Given the description of an element on the screen output the (x, y) to click on. 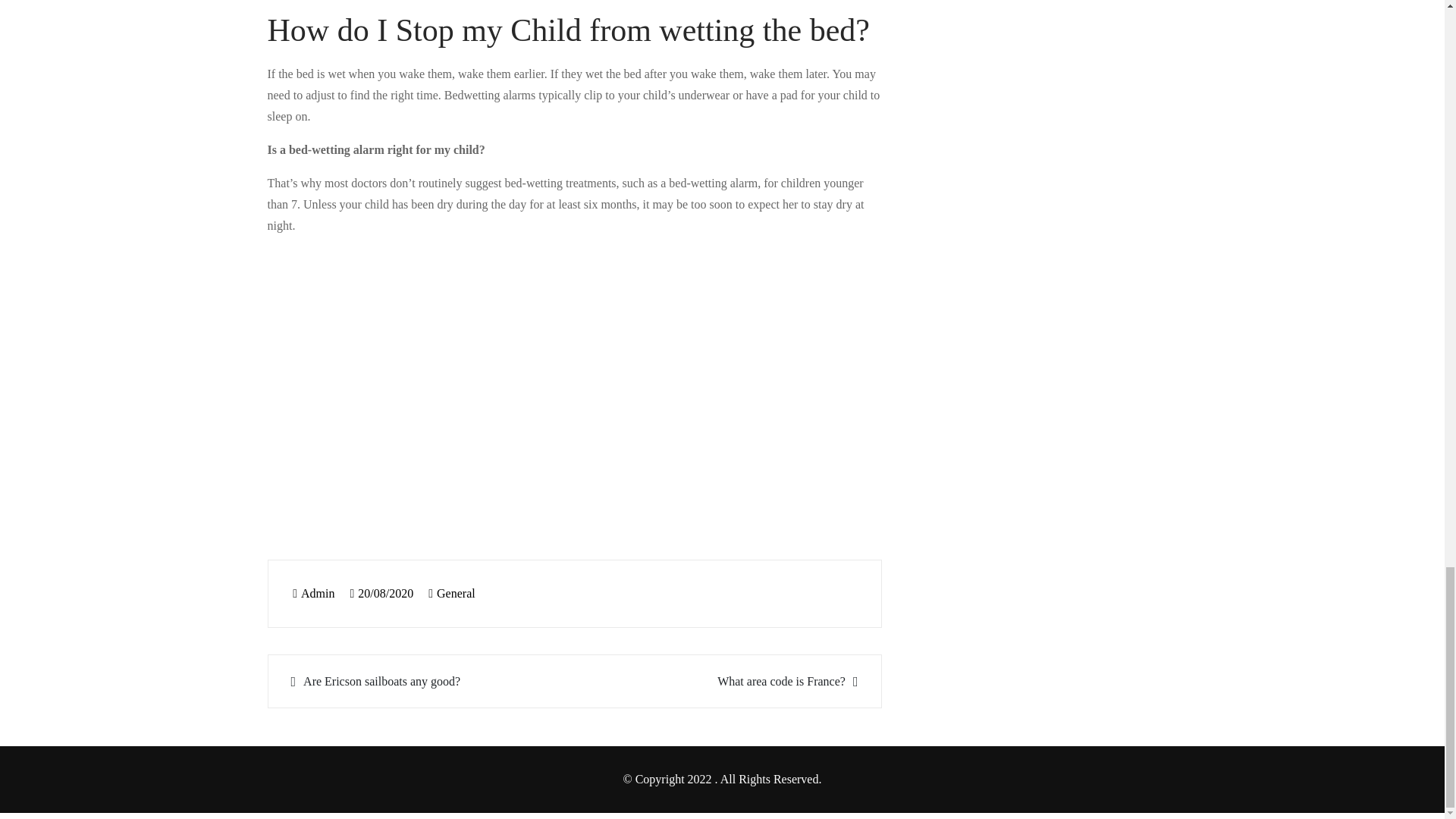
Admin (313, 593)
What area code is France? (724, 681)
Are Ericson sailboats any good? (423, 681)
General (456, 593)
Zap Wet 9 (509, 384)
